Given the description of an element on the screen output the (x, y) to click on. 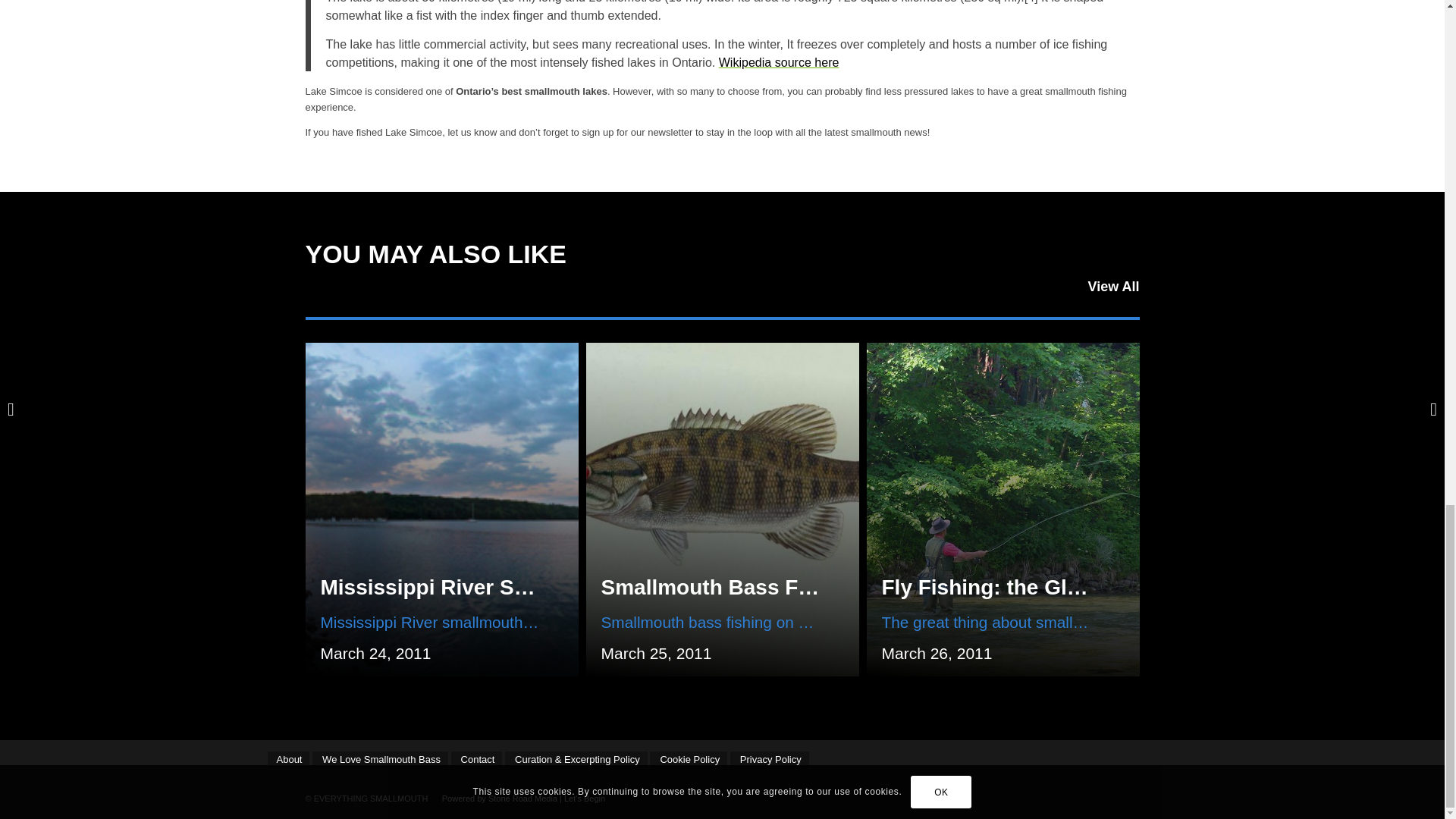
About (287, 759)
Fly Fishing: the Glover River Smallmouth (1088, 586)
Mississippi River Smallmouth Bass Fishing (539, 586)
Privacy Policy (769, 759)
We Love Smallmouth Bass (380, 759)
Smallmouth Bass Fishing on Lake Erie (795, 586)
View All (1112, 286)
Cookie Policy (687, 759)
Wikipedia source here (779, 61)
Contact (476, 759)
